Given the description of an element on the screen output the (x, y) to click on. 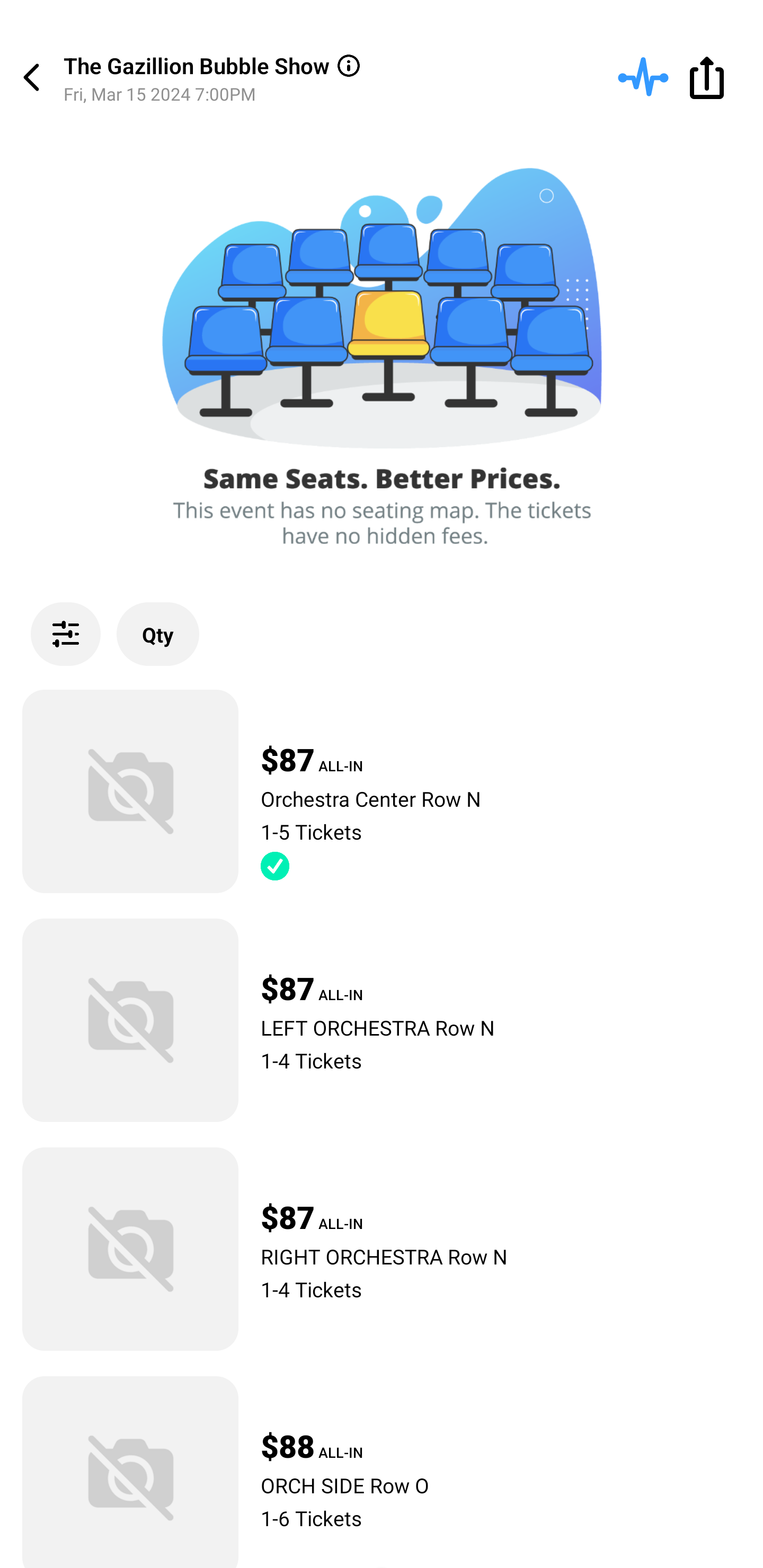
Qty (157, 634)
